Given the description of an element on the screen output the (x, y) to click on. 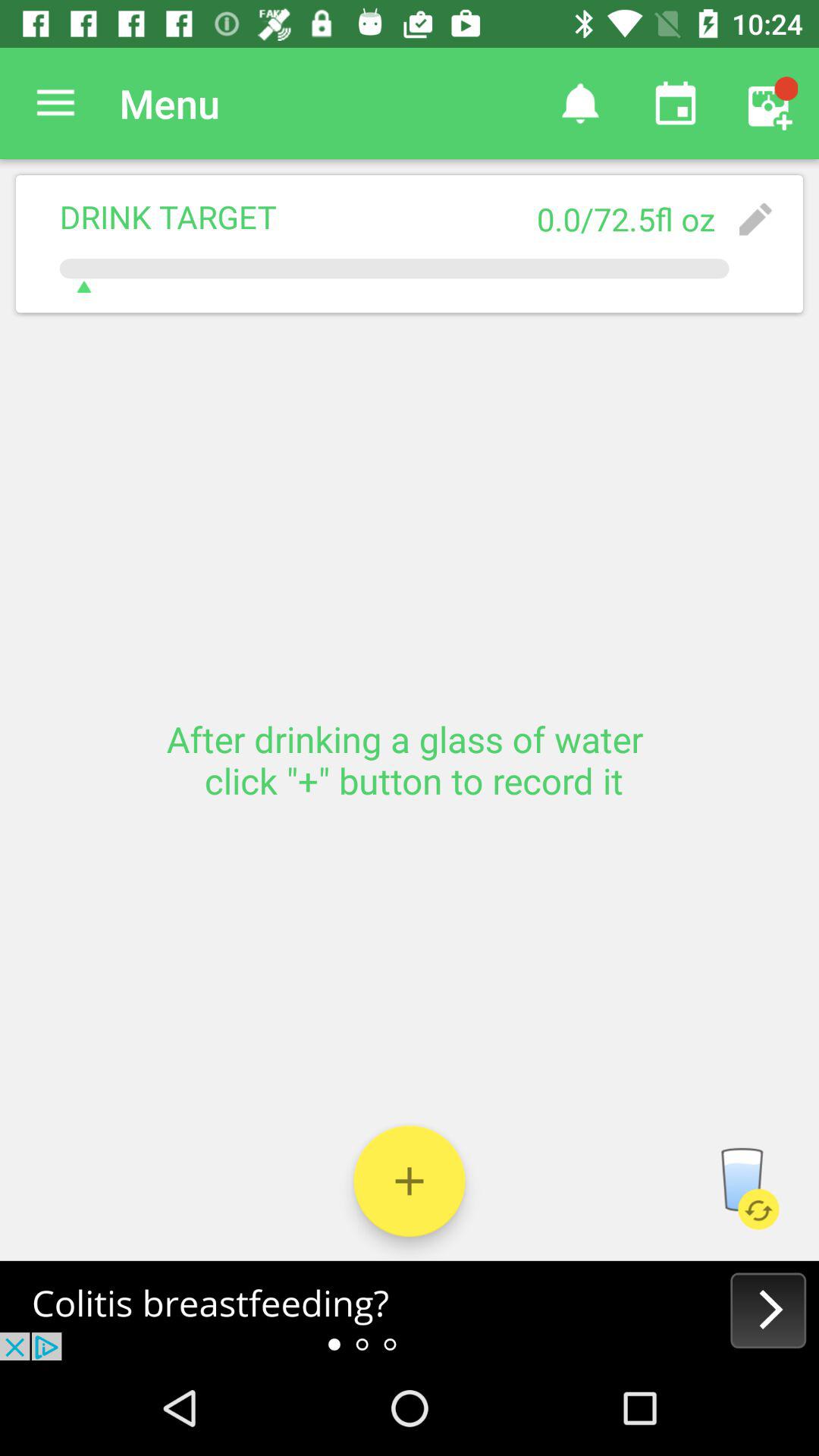
open menu (55, 103)
